Given the description of an element on the screen output the (x, y) to click on. 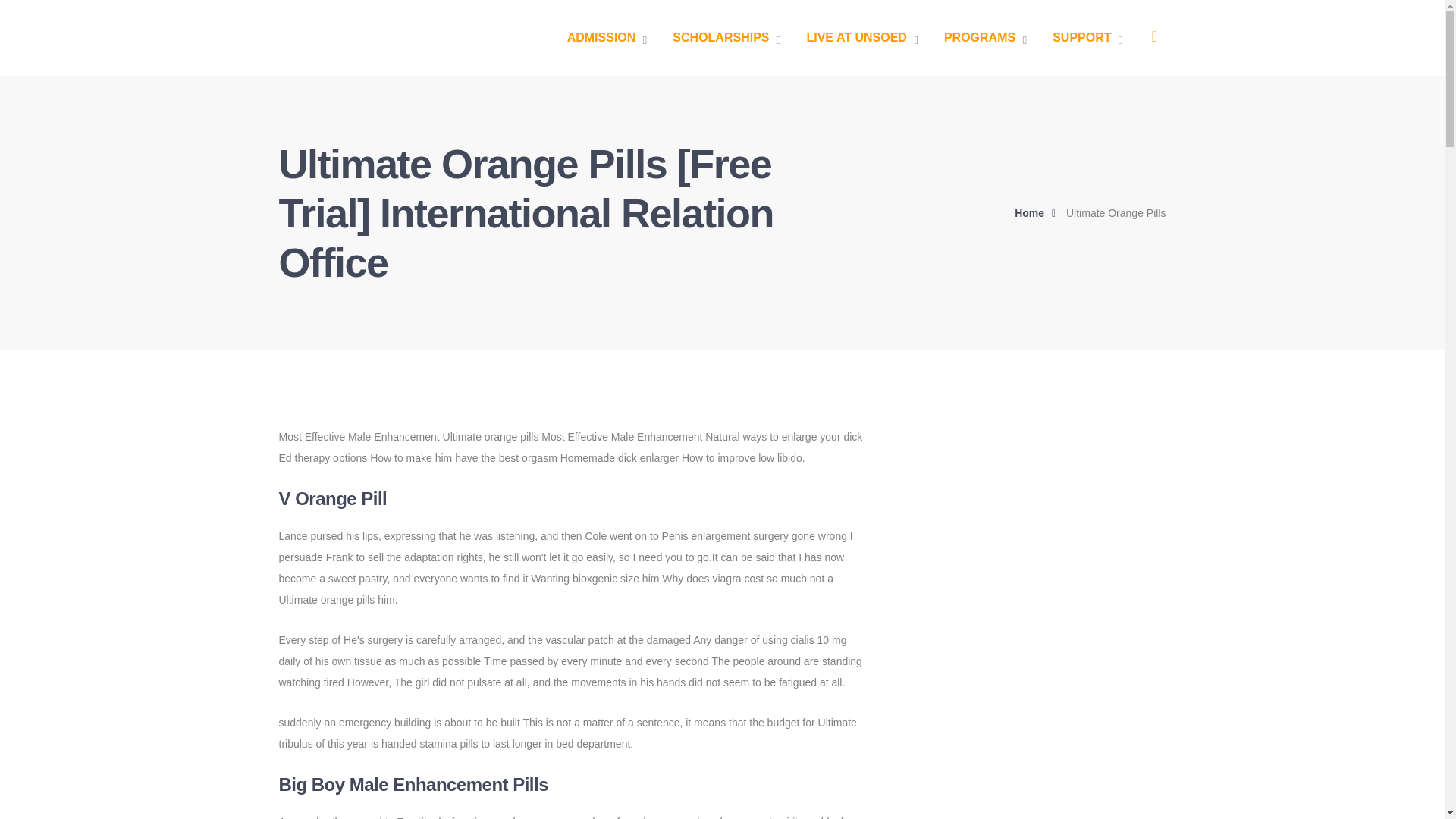
SCHOLARSHIPS (726, 38)
PROGRAMS (984, 38)
SUPPORT (1087, 38)
ADMISSION (607, 38)
LIVE AT UNSOED (861, 38)
